Given the description of an element on the screen output the (x, y) to click on. 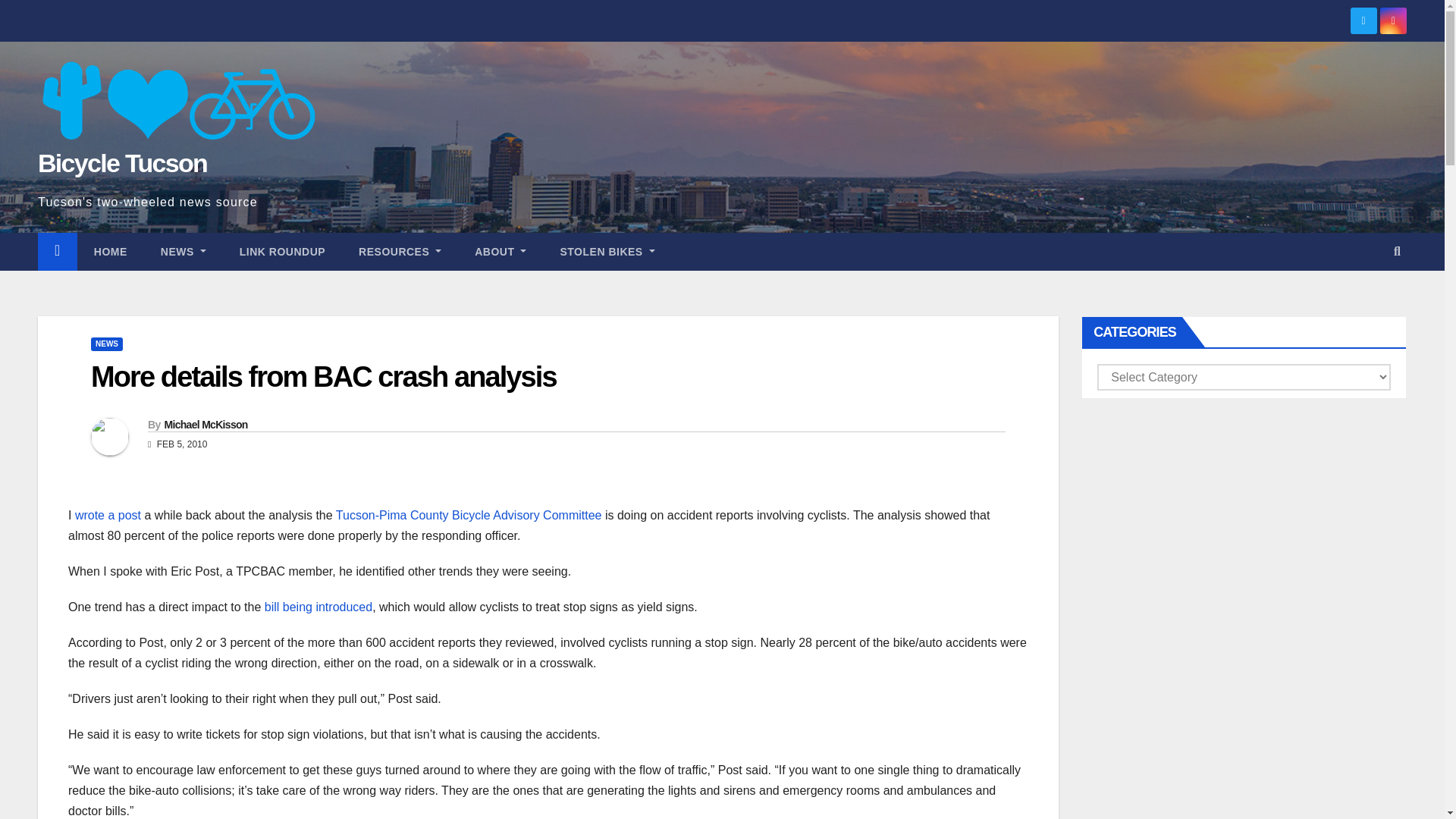
LINK ROUNDUP (282, 251)
bill being introduced (318, 606)
HOME (110, 251)
STOLEN BIKES (607, 251)
News (183, 251)
Michael McKisson (205, 424)
Link Roundup (282, 251)
NEWS (106, 344)
wrote a post (108, 514)
About (500, 251)
More details from BAC crash analysis (323, 377)
RESOURCES (400, 251)
NEWS (183, 251)
ABOUT (500, 251)
Tucson-Pima County Bicycle Advisory Committee (469, 514)
